Given the description of an element on the screen output the (x, y) to click on. 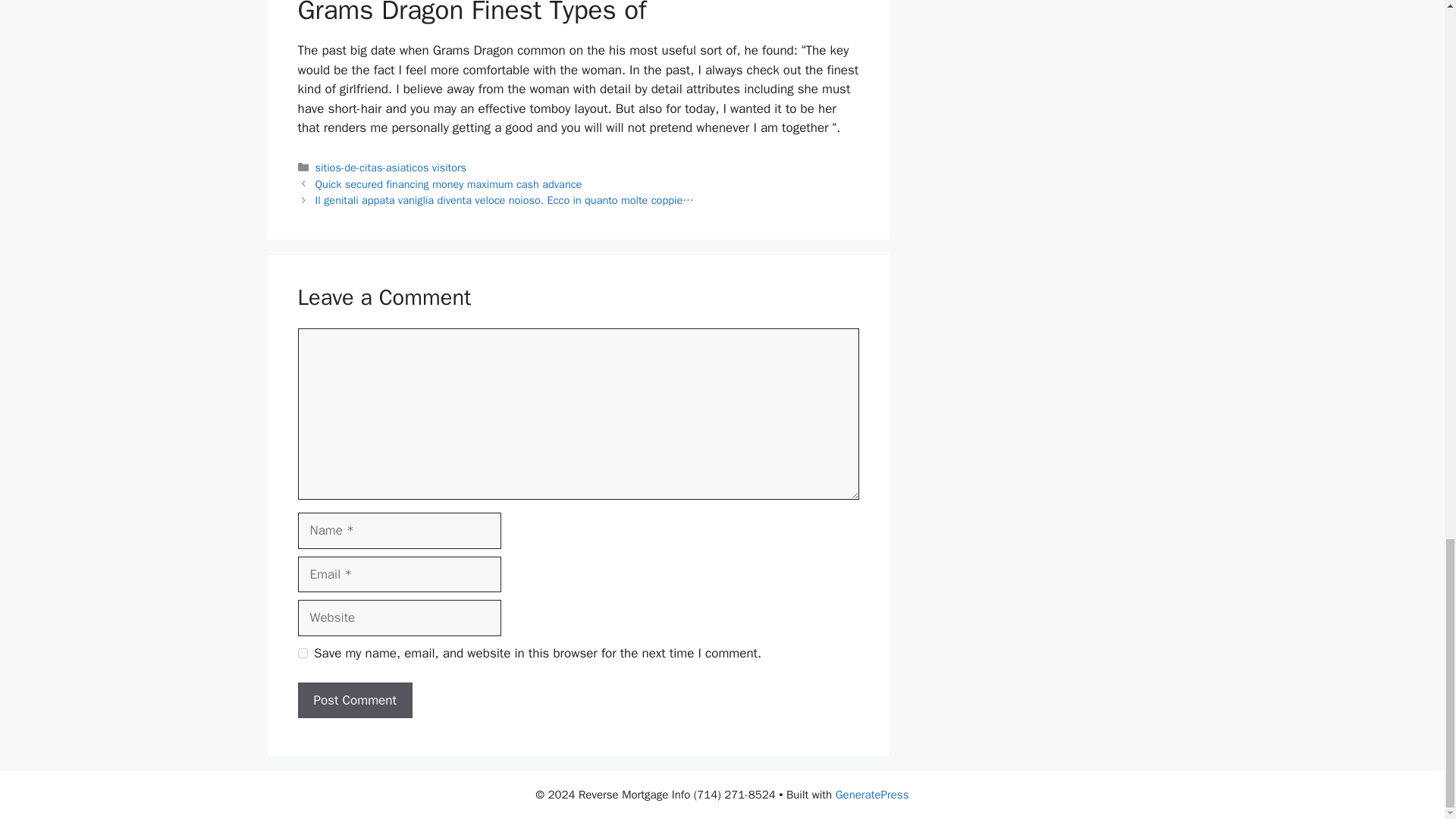
Quick secured financing money maximum cash advance (448, 183)
GeneratePress (871, 794)
Post Comment (354, 700)
sitios-de-citas-asiaticos visitors (391, 167)
yes (302, 653)
Post Comment (354, 700)
